Given the description of an element on the screen output the (x, y) to click on. 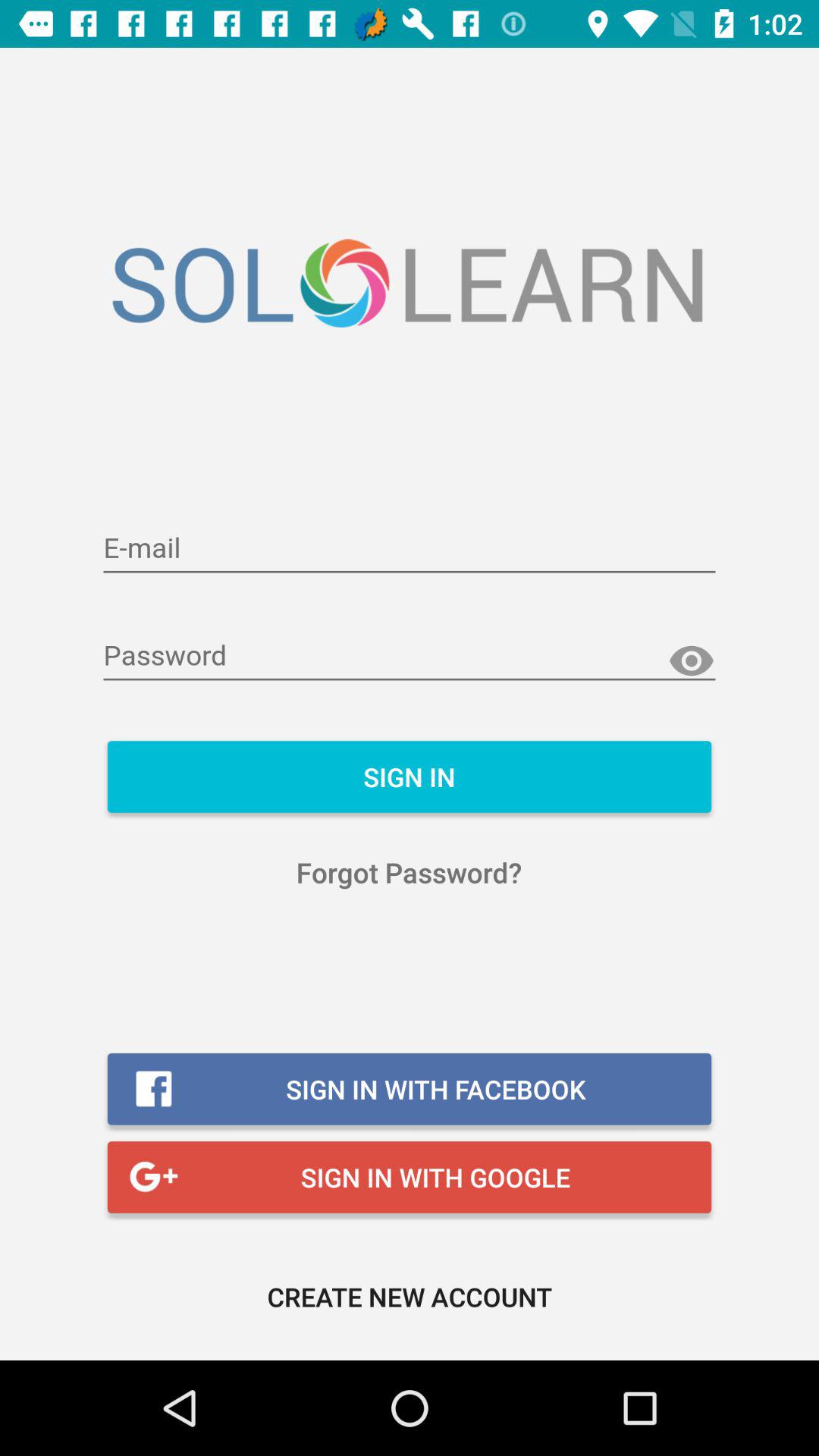
swipe until the forgot password? item (409, 872)
